Given the description of an element on the screen output the (x, y) to click on. 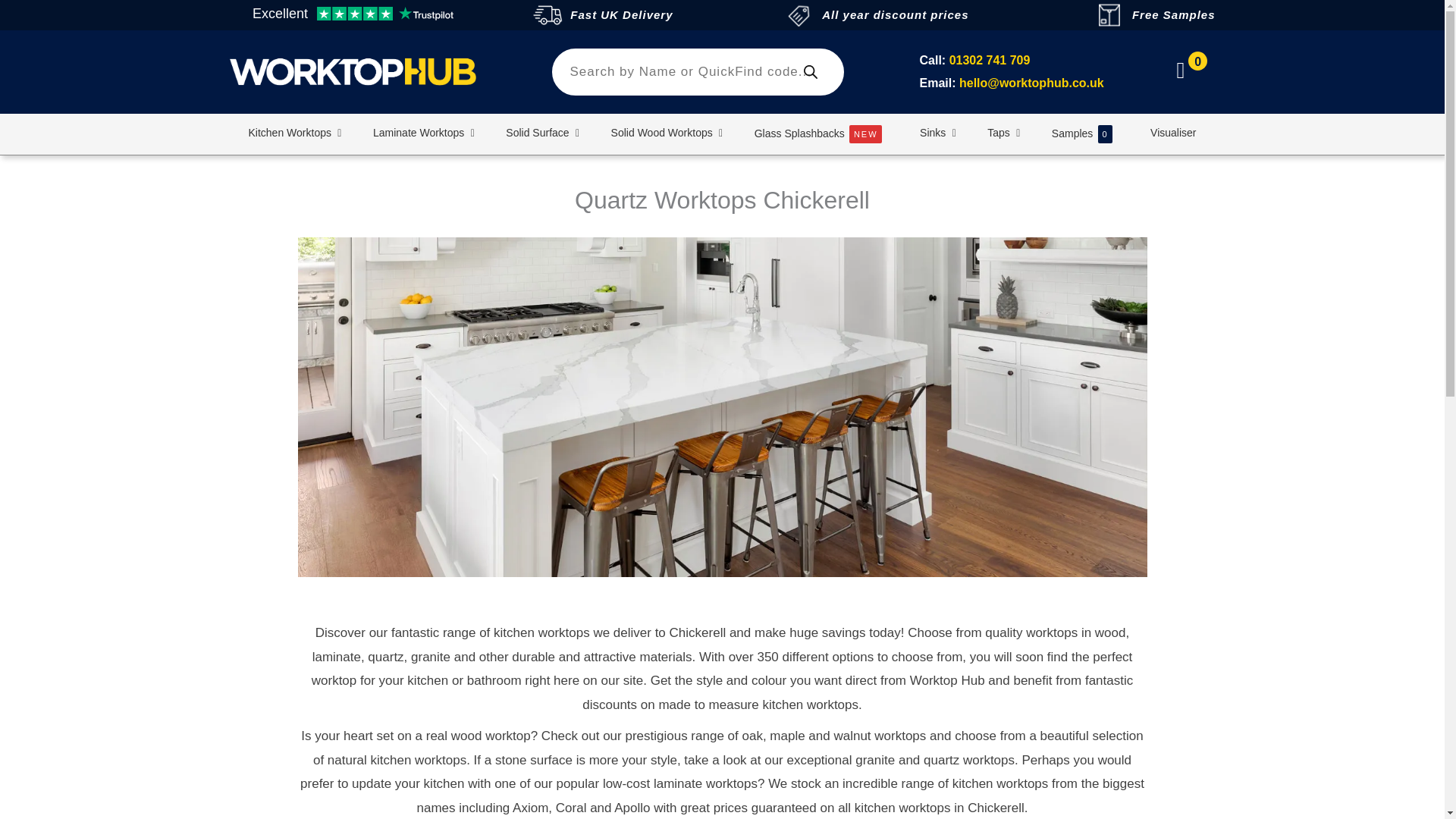
Customer reviews powered by Trustpilot (352, 14)
delivery-icon (547, 15)
priceicon2 (798, 15)
01302 741 709 (989, 60)
samples (1109, 15)
Free Samples (1173, 14)
Kitchen Worktops (290, 132)
